Given the description of an element on the screen output the (x, y) to click on. 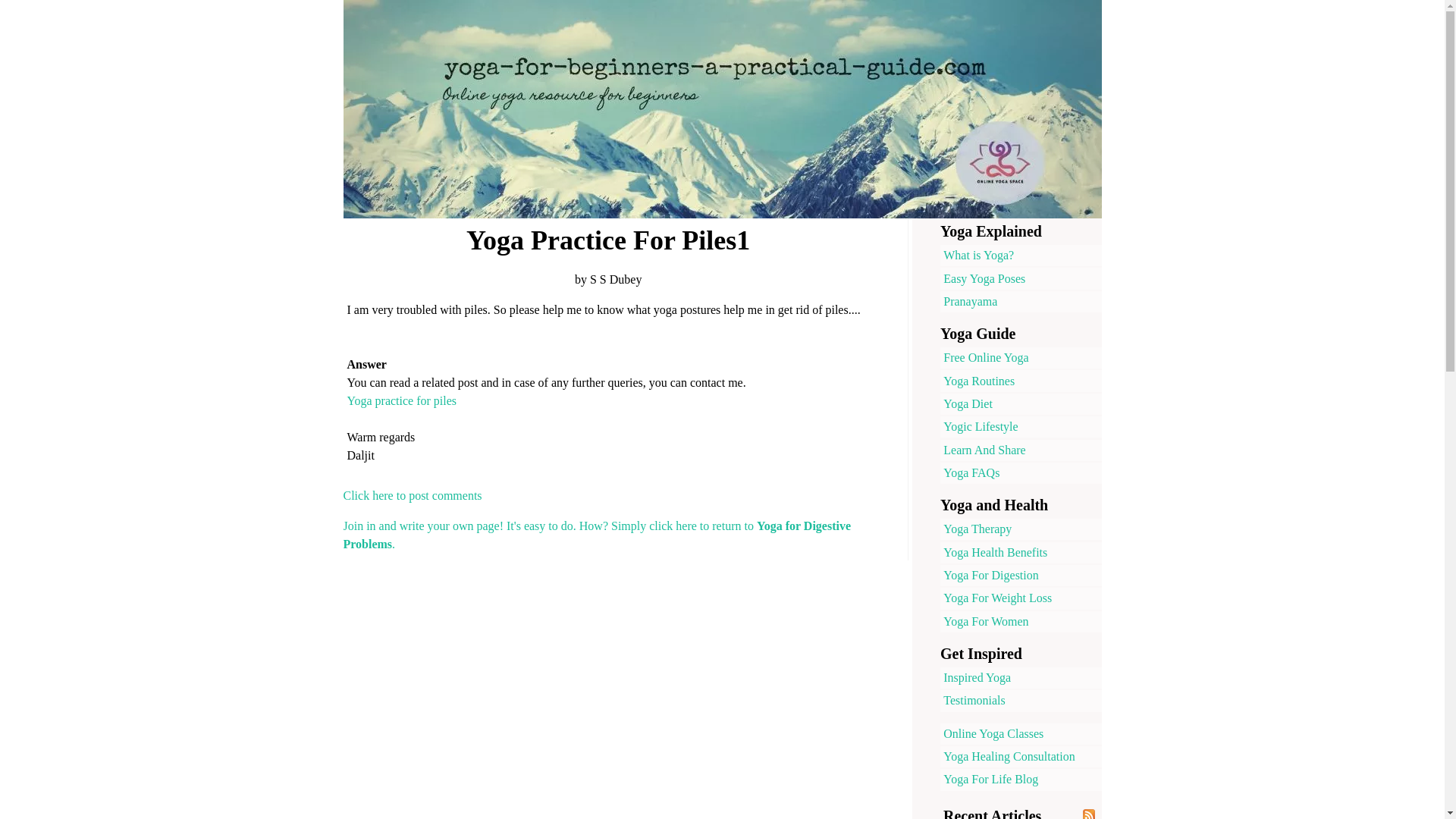
Yoga Health Benefits (1021, 551)
Online Yoga Classes (1021, 733)
Yoga For Life Blog (1021, 779)
Yoga practice for piles (402, 400)
Yoga Routines (1021, 380)
Yoga For Women (1021, 621)
Learn And Share (1021, 450)
Click here to post comments (411, 495)
Yoga Therapy (1021, 528)
Yoga For Digestion (1021, 575)
Recent Articles (992, 812)
Yoga FAQs (1021, 473)
What is Yoga? (1021, 255)
Testimonials (1021, 700)
Yoga For Weight Loss (1021, 598)
